Given the description of an element on the screen output the (x, y) to click on. 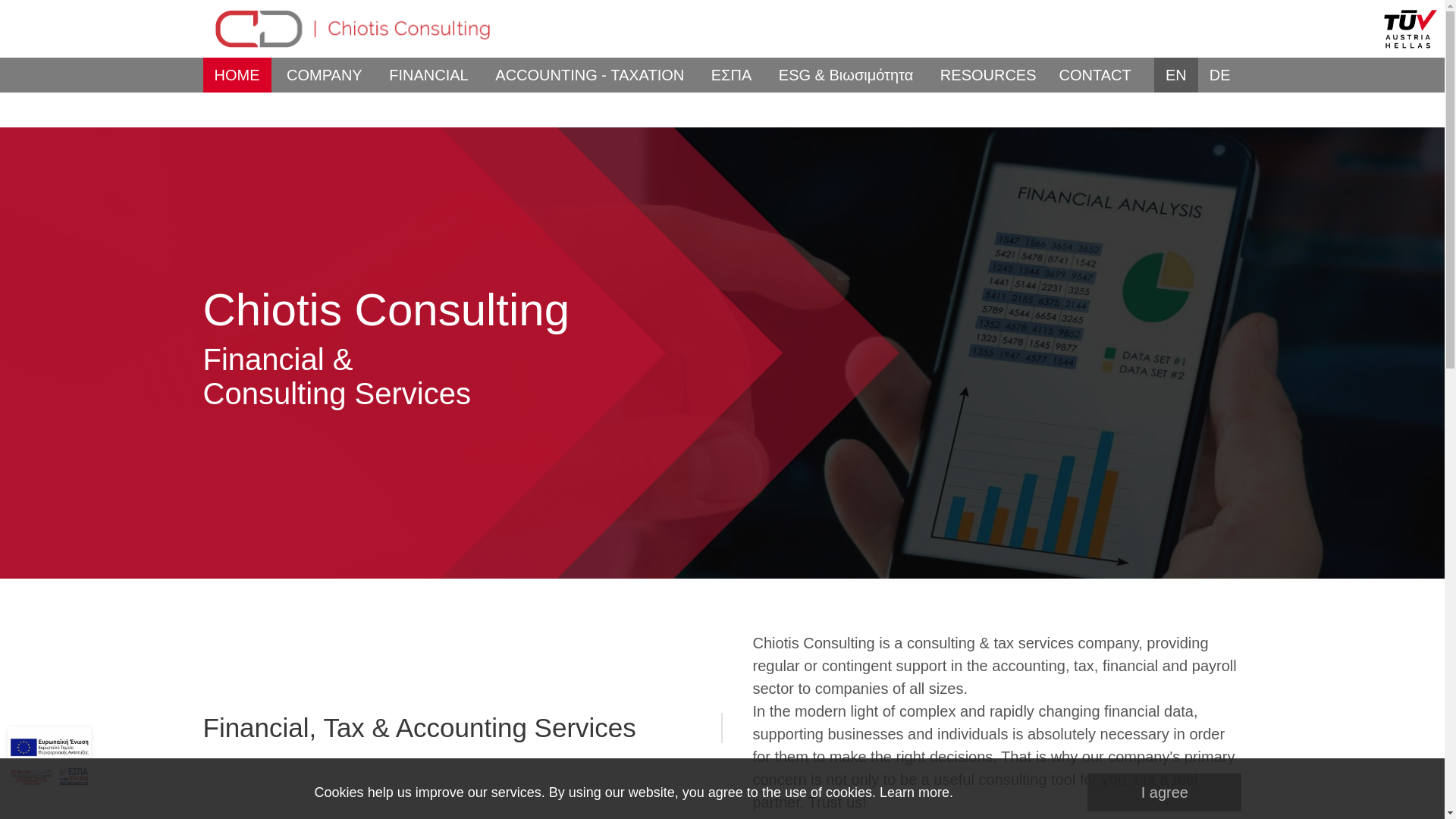
ACCOUNTING - TAXATION (589, 74)
EN (1176, 74)
FINANCIAL (428, 74)
CONTACT (1095, 74)
GR (1218, 109)
RESOURCES (988, 74)
COMPANY (324, 74)
DE (1219, 74)
HOME (236, 74)
